Given the description of an element on the screen output the (x, y) to click on. 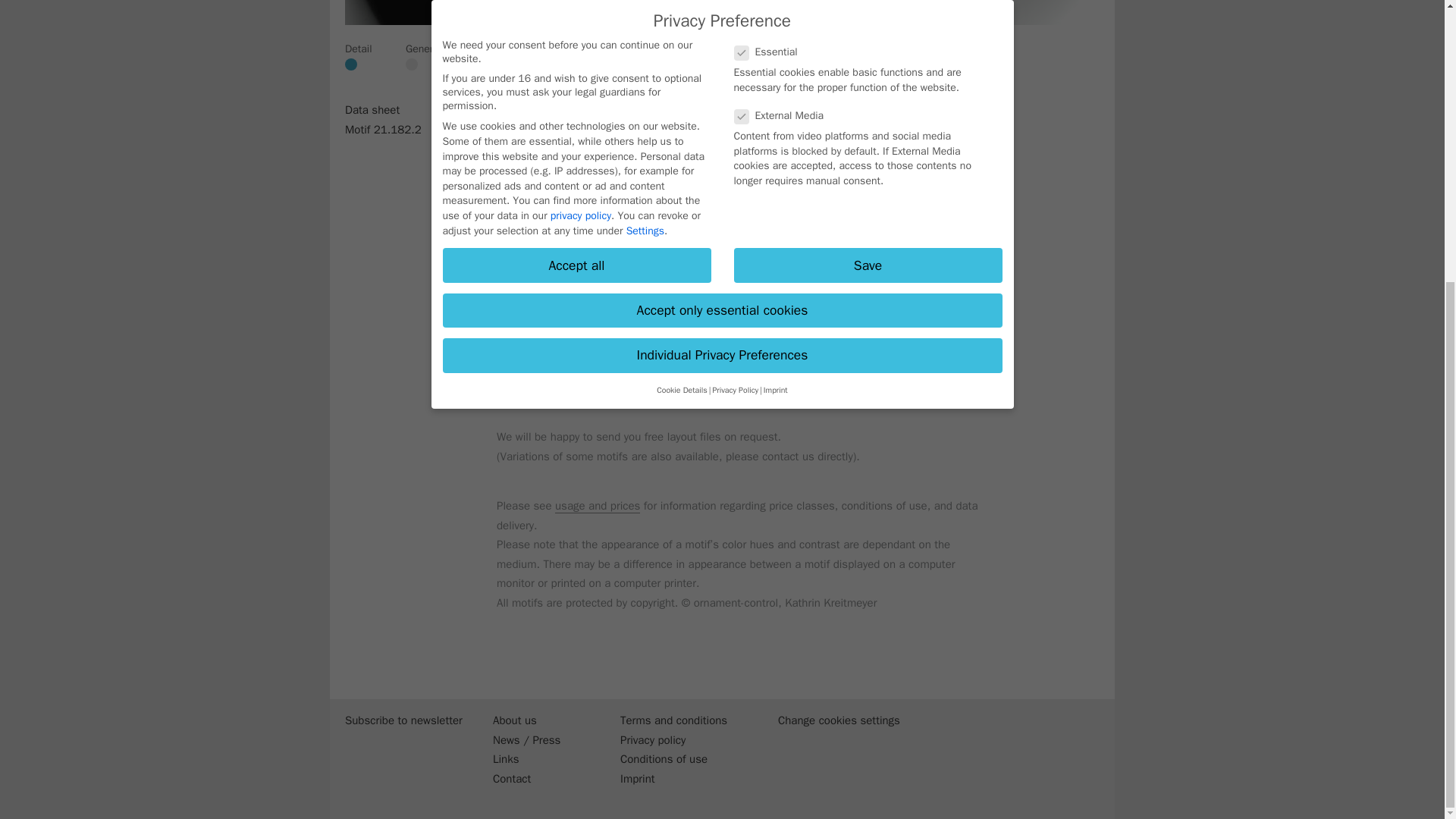
usage and prices (597, 505)
Imprint (680, 779)
Subscribe to newsletter (401, 721)
Links (538, 759)
About us (538, 721)
Contact (538, 779)
Terms and conditions (680, 721)
Privacy policy (680, 741)
Print data sheet (551, 320)
Conditions of use (680, 759)
